Given the description of an element on the screen output the (x, y) to click on. 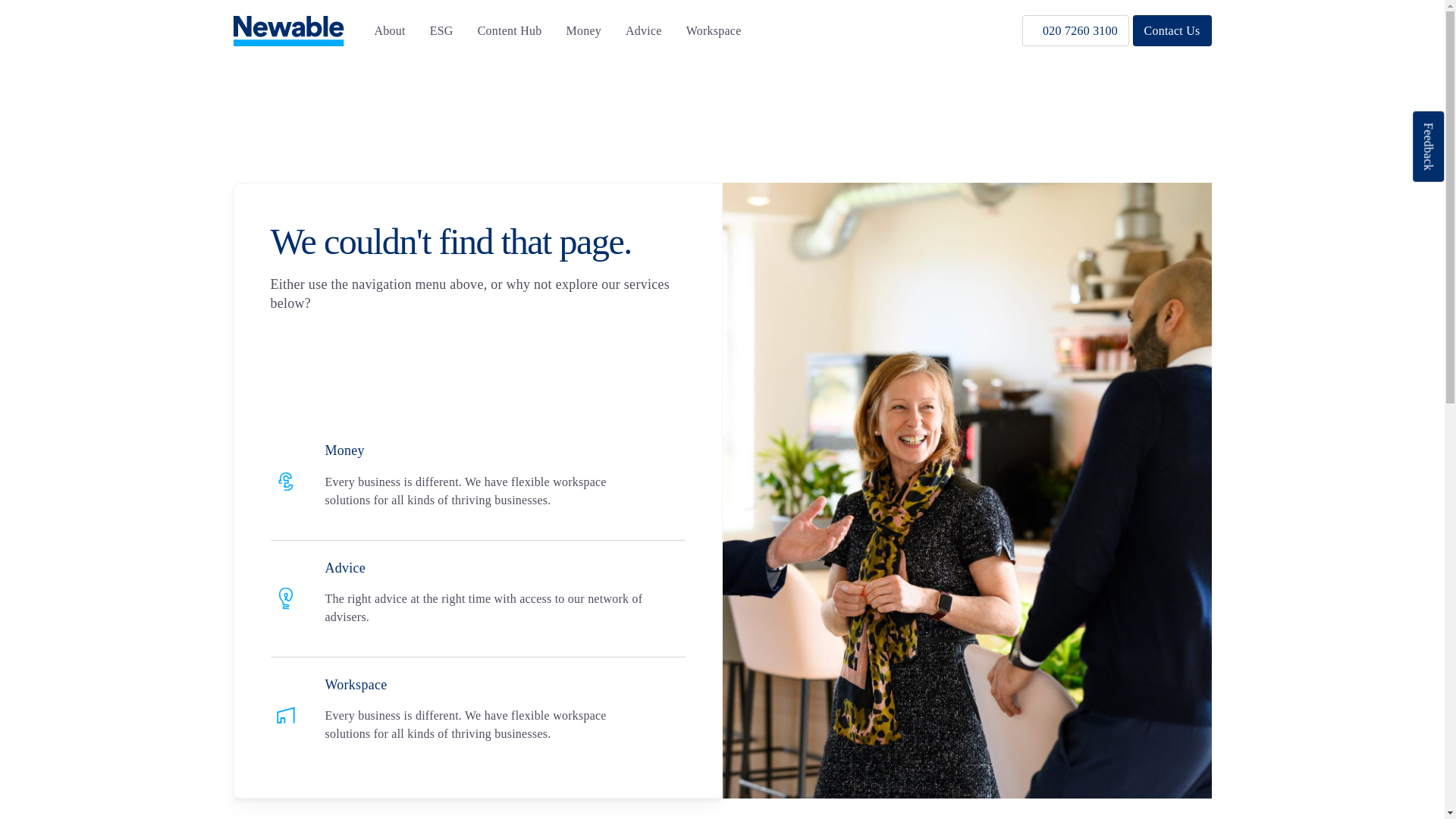
Content Hub (509, 30)
Workspace (713, 30)
Advice (644, 30)
Contact Us (1171, 30)
ESG (440, 30)
Money (584, 30)
Call 020 7260 3100 (1075, 30)
About (390, 30)
020 7260 3100 (1075, 30)
